Given the description of an element on the screen output the (x, y) to click on. 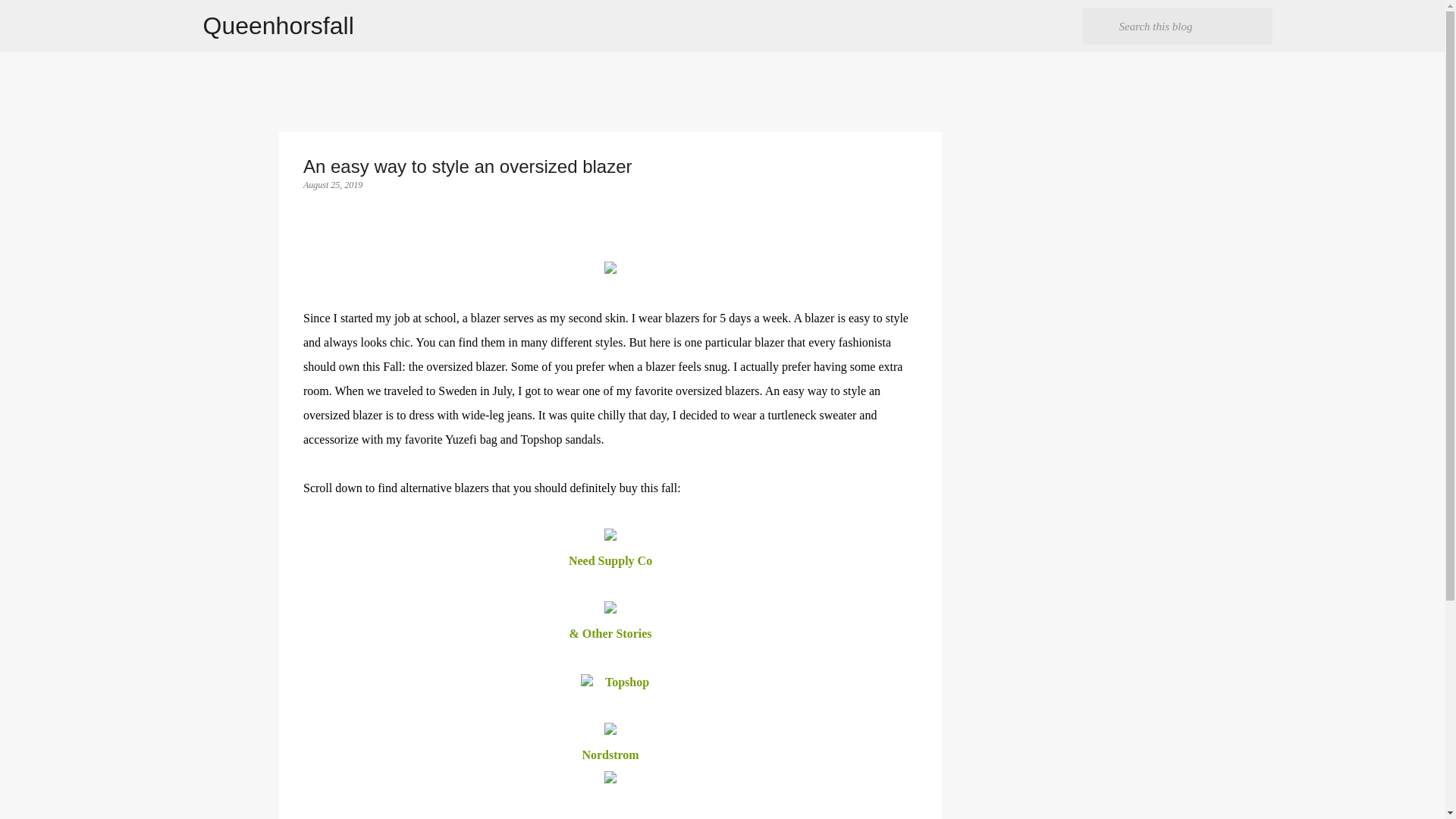
August 25, 2019 (332, 184)
permanent link (332, 184)
Queenhorsfall (278, 25)
Need Supply Co (610, 560)
Nordstrom (609, 754)
Topshop  (628, 681)
